Given the description of an element on the screen output the (x, y) to click on. 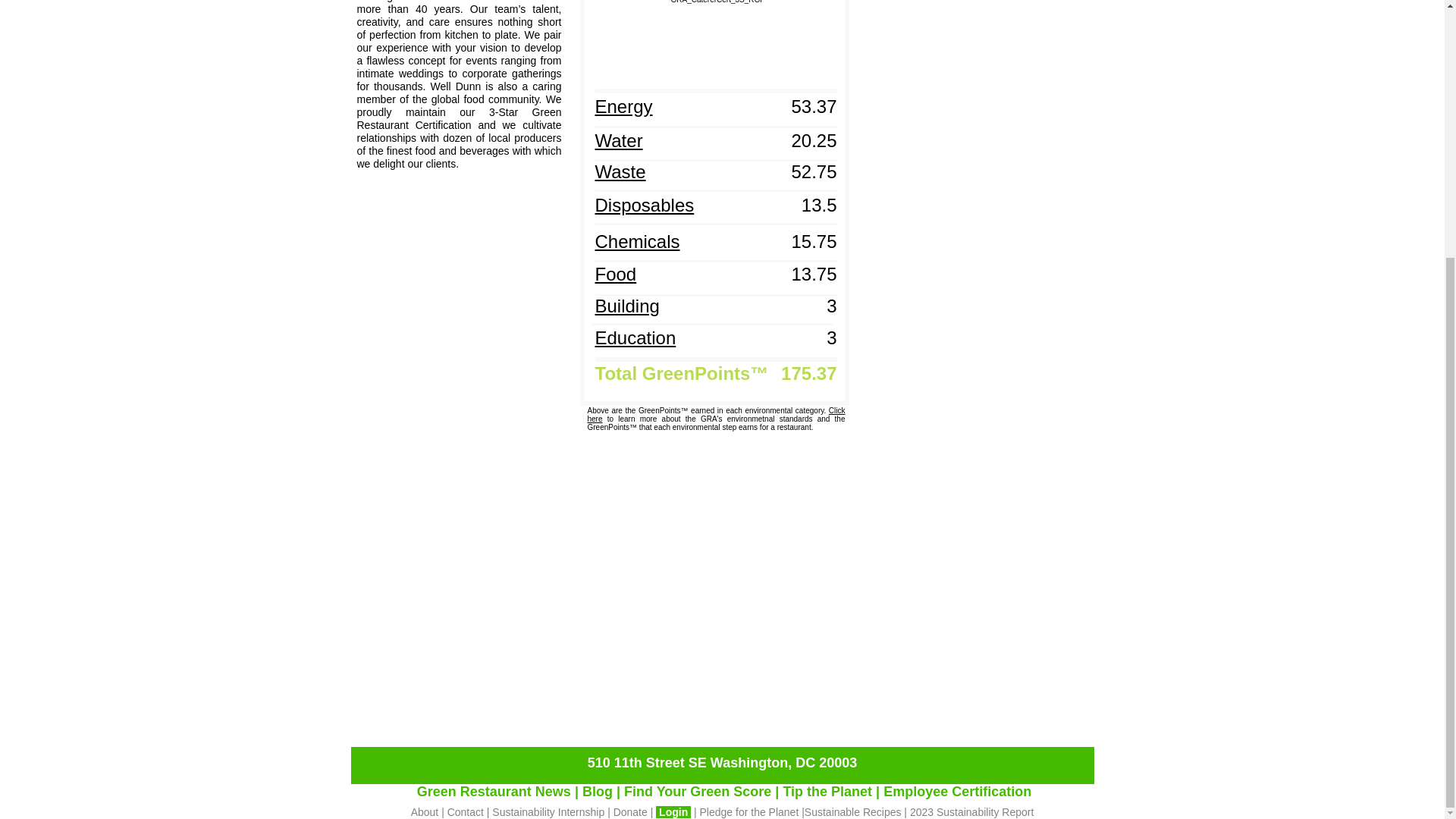
2023 Sustainability Report (971, 811)
Pledge for the Planet (749, 811)
Energy (623, 107)
Sustainability Internship (548, 811)
Building (626, 306)
Sustainable Recipes (853, 811)
Click here (715, 414)
About  (425, 811)
Blog  (596, 791)
Login  (674, 811)
